Given the description of an element on the screen output the (x, y) to click on. 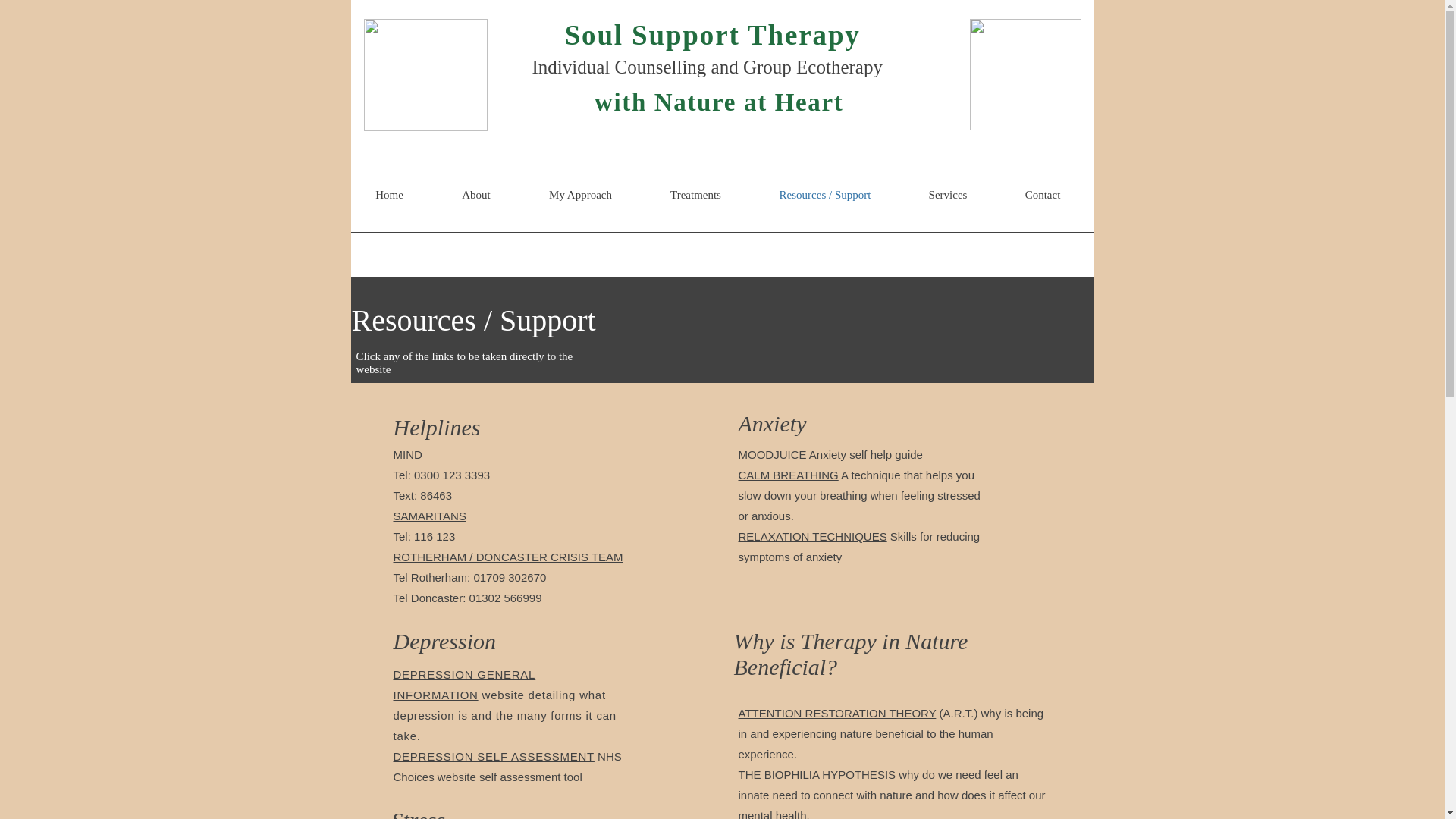
MIND (407, 454)
DEPRESSION GENERAL INFORMATION (464, 684)
MOODJUICE (772, 454)
THE BIOPHILIA HYPOTHESIS (817, 774)
ATTENTION RESTORATION THEORY (837, 712)
RELAXATION TECHNIQUES (812, 535)
Home (389, 194)
Soul Support Therapy (712, 34)
My Approach (580, 194)
CALM BREATHING (788, 474)
Treatments (696, 194)
Contact (1042, 194)
DEPRESSION SELF ASSESSMENT (493, 756)
SAMARITANS (429, 515)
